Given the description of an element on the screen output the (x, y) to click on. 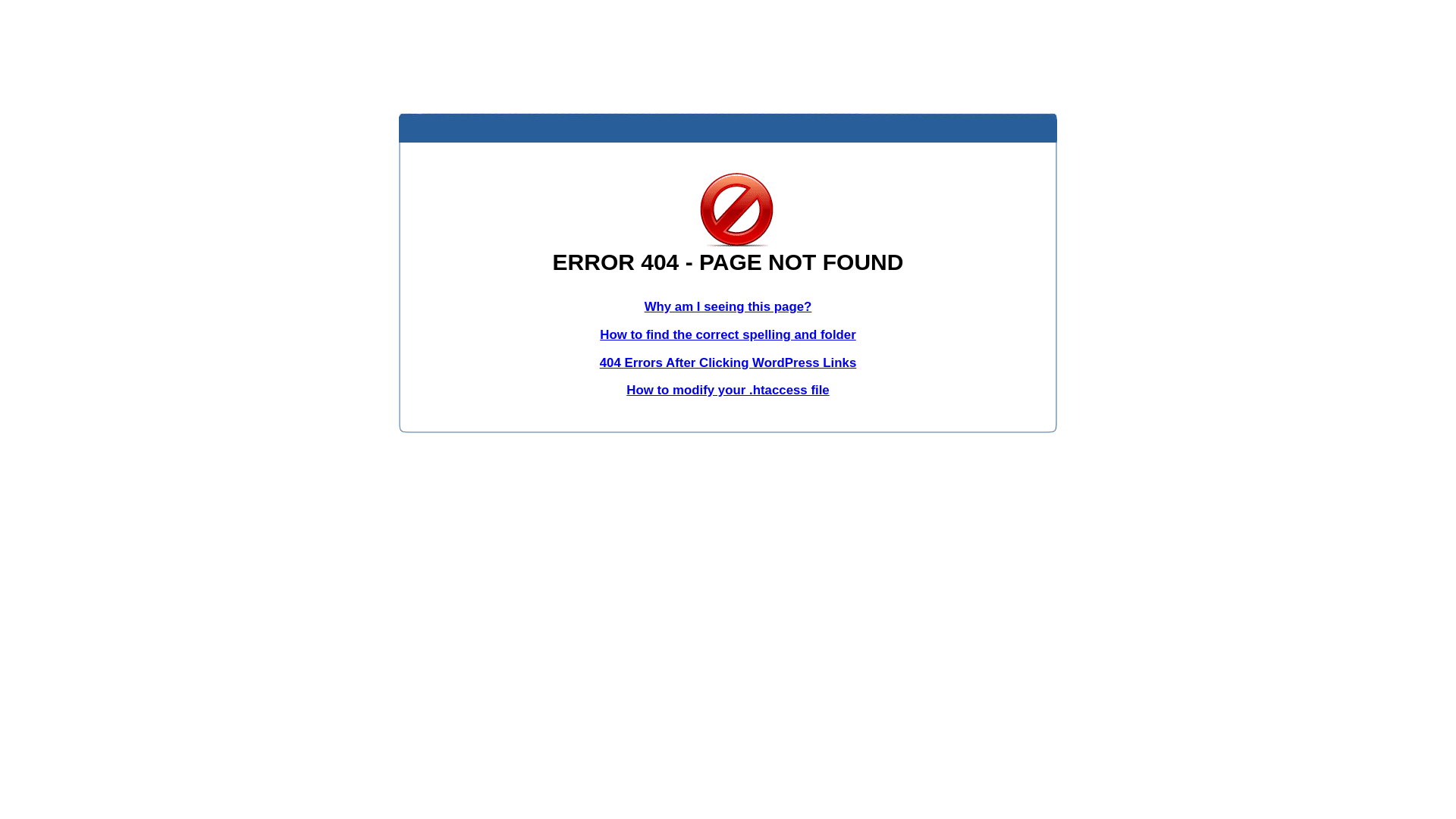
How to find the correct spelling and folder Element type: text (727, 334)
404 Errors After Clicking WordPress Links Element type: text (727, 362)
Why am I seeing this page? Element type: text (728, 306)
How to modify your .htaccess file Element type: text (727, 389)
